Given the description of an element on the screen output the (x, y) to click on. 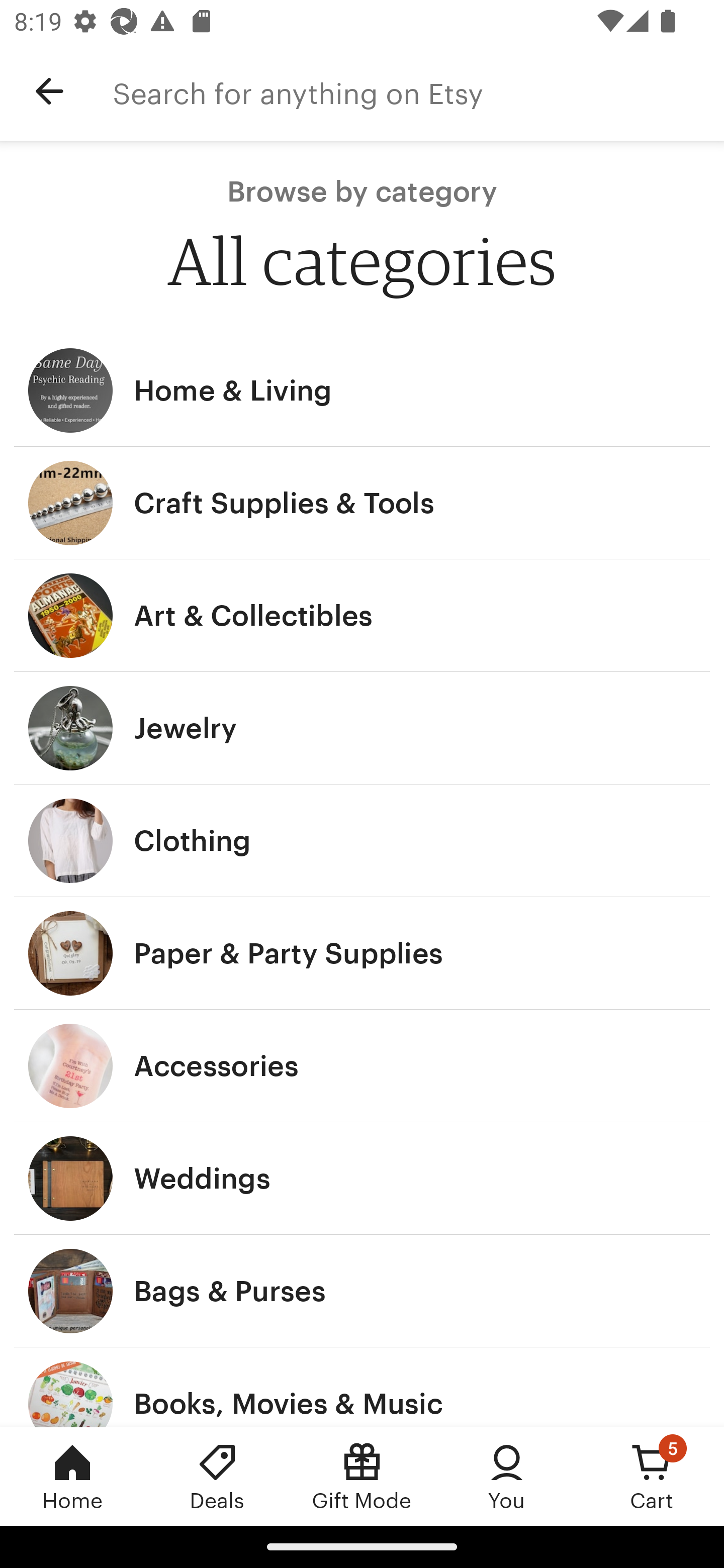
Navigate up (49, 91)
Search for anything on Etsy (418, 91)
Home & Living (361, 389)
Craft Supplies & Tools (361, 502)
Art & Collectibles (361, 615)
Jewelry (361, 728)
Clothing (361, 840)
Paper & Party Supplies (361, 952)
Accessories (361, 1065)
Weddings (361, 1178)
Bags & Purses (361, 1290)
Books, Movies & Music (361, 1386)
Deals (216, 1475)
Gift Mode (361, 1475)
You (506, 1475)
Cart, 5 new notifications Cart (651, 1475)
